Given the description of an element on the screen output the (x, y) to click on. 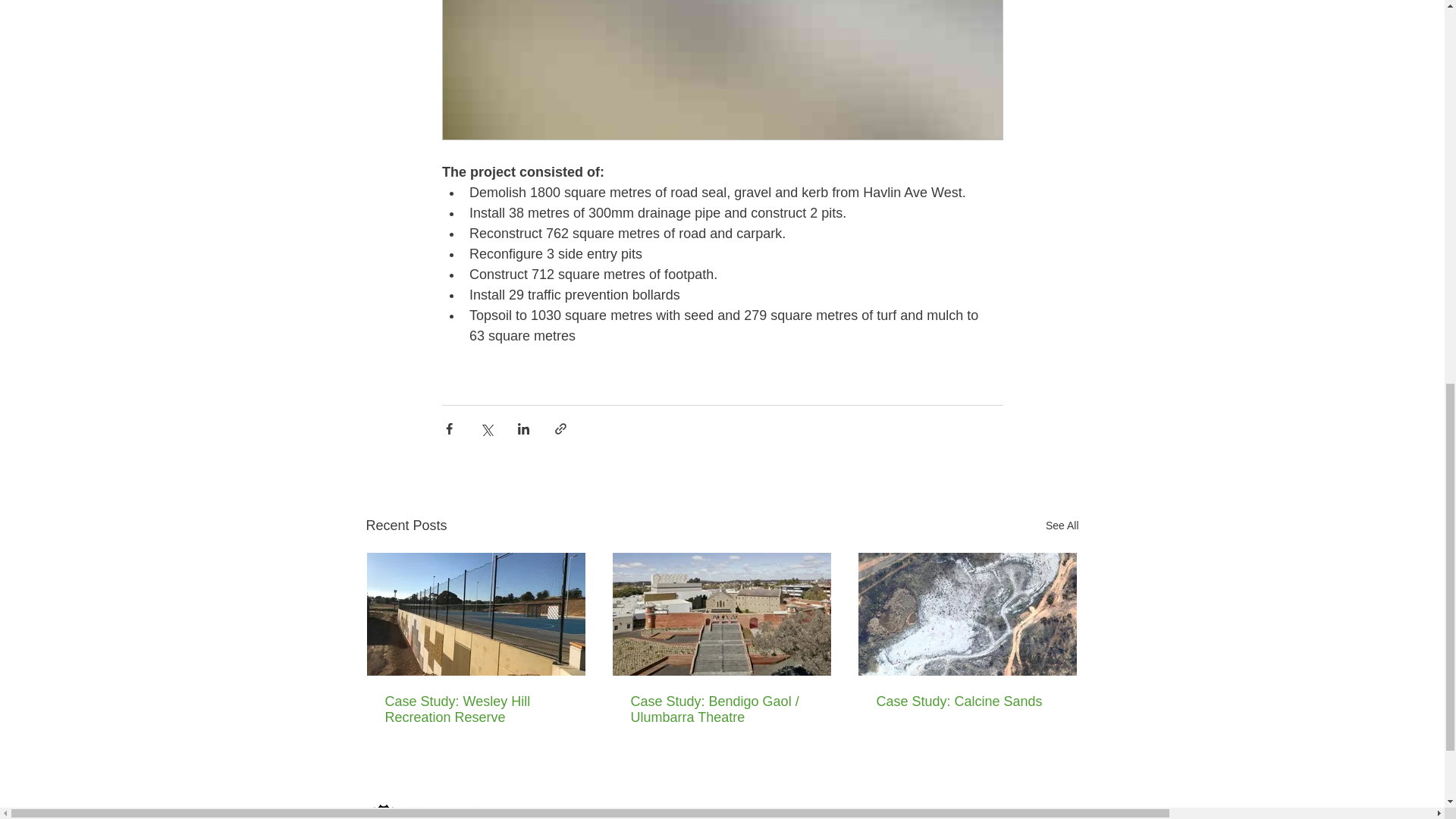
Case Study: Calcine Sands (967, 701)
See All (1061, 526)
Case Study: Wesley Hill Recreation Reserve (476, 709)
